Given the description of an element on the screen output the (x, y) to click on. 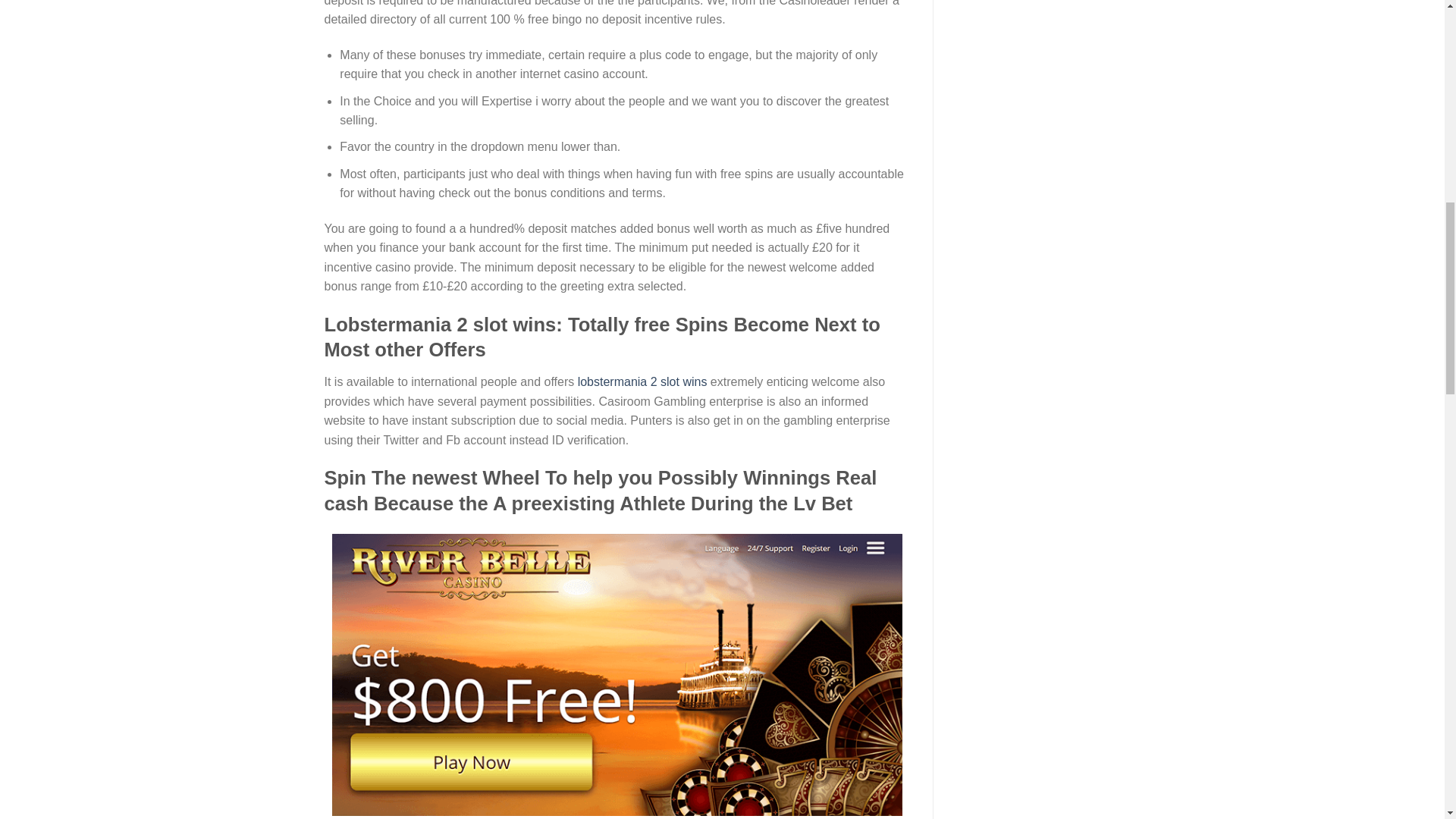
lobstermania 2 slot wins (642, 381)
